Given the description of an element on the screen output the (x, y) to click on. 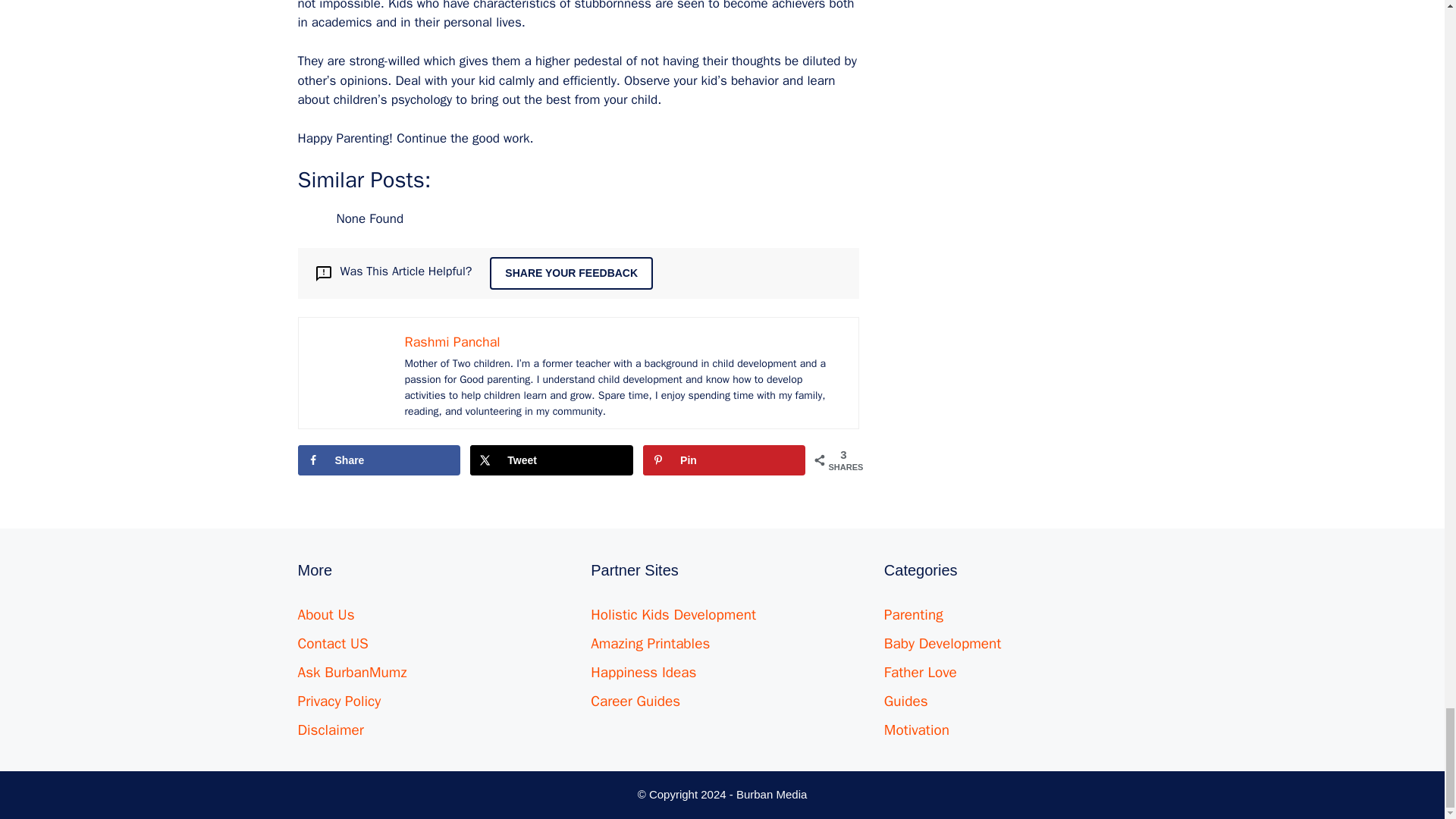
Pin (724, 460)
Rashmi Panchal (452, 341)
Save to Pinterest (724, 460)
Tweet (550, 460)
Contact US (332, 643)
Share on X (550, 460)
Share on Facebook (378, 460)
Share (378, 460)
About Us (325, 615)
SHARE YOUR FEEDBACK (570, 273)
